Given the description of an element on the screen output the (x, y) to click on. 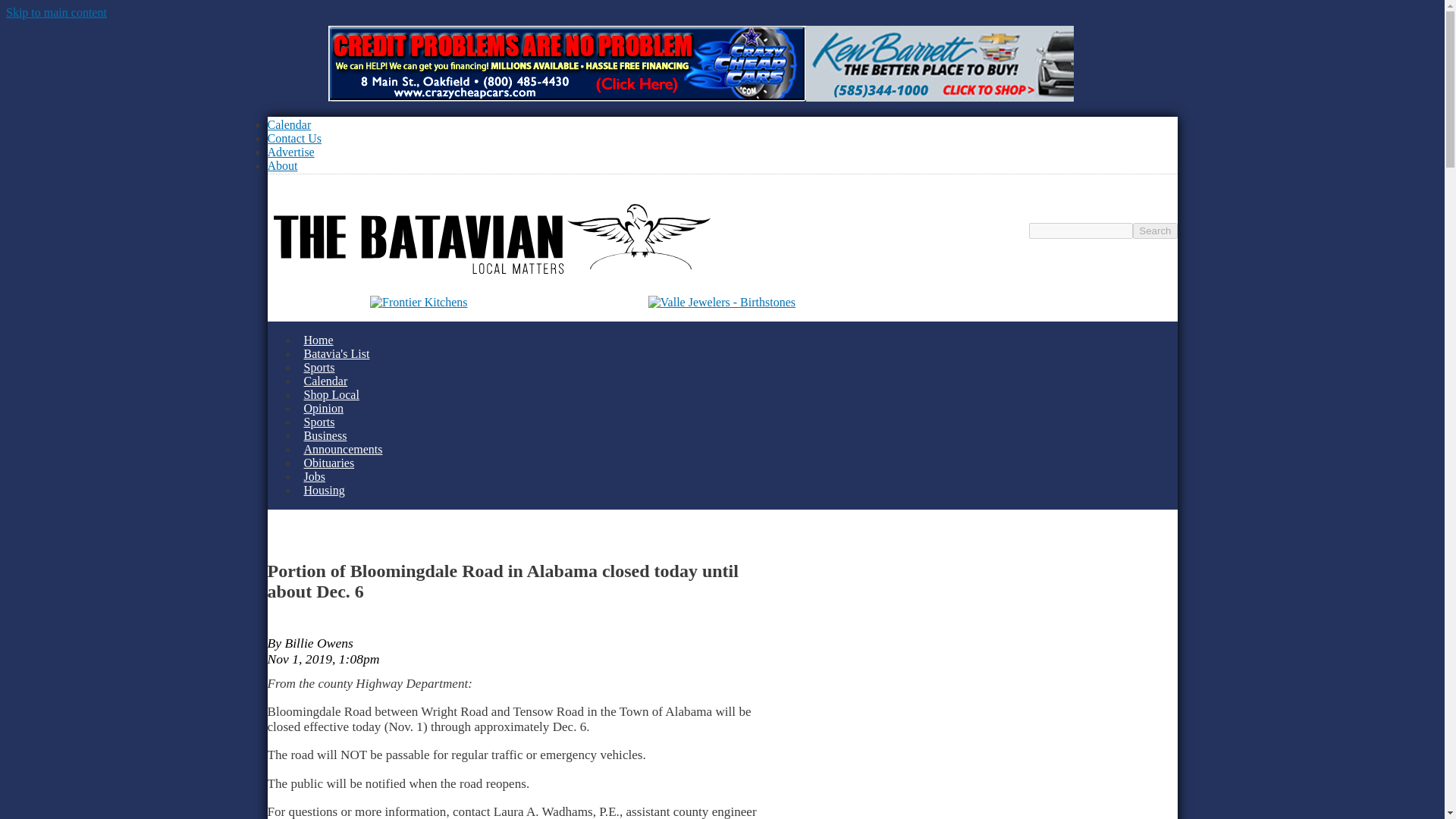
News of local business (324, 435)
Sports (318, 421)
Batavia's List (336, 353)
Ken Barrett - Marquee Tile (939, 64)
Crazy Cheap Cars - Top (566, 64)
Contact Us (293, 137)
Opinion (323, 408)
Skip to main content (55, 11)
Page about advertising on the site. (290, 151)
Announcements (342, 449)
